Given the description of an element on the screen output the (x, y) to click on. 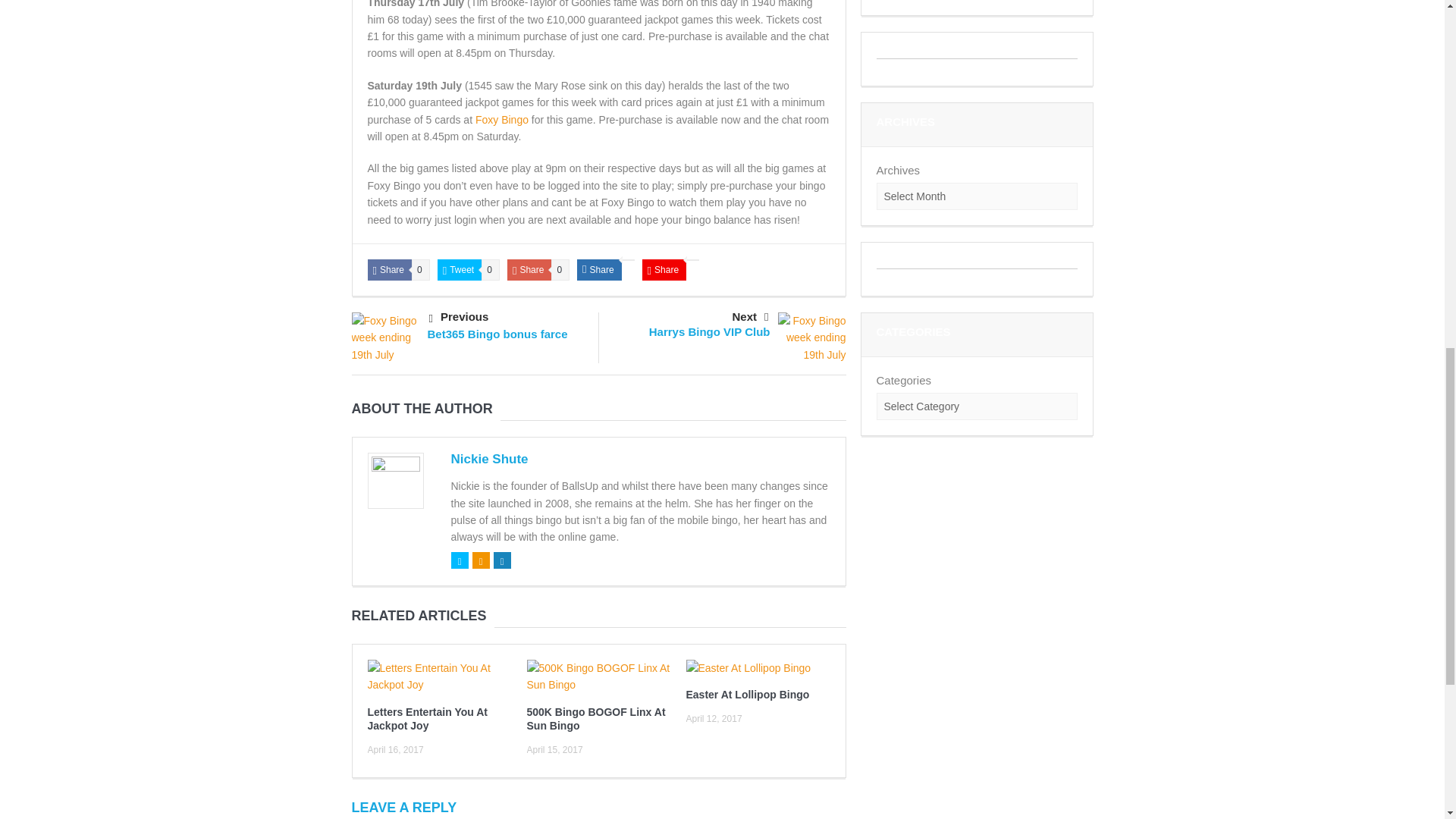
Foxy Bingo (502, 119)
